Given the description of an element on the screen output the (x, y) to click on. 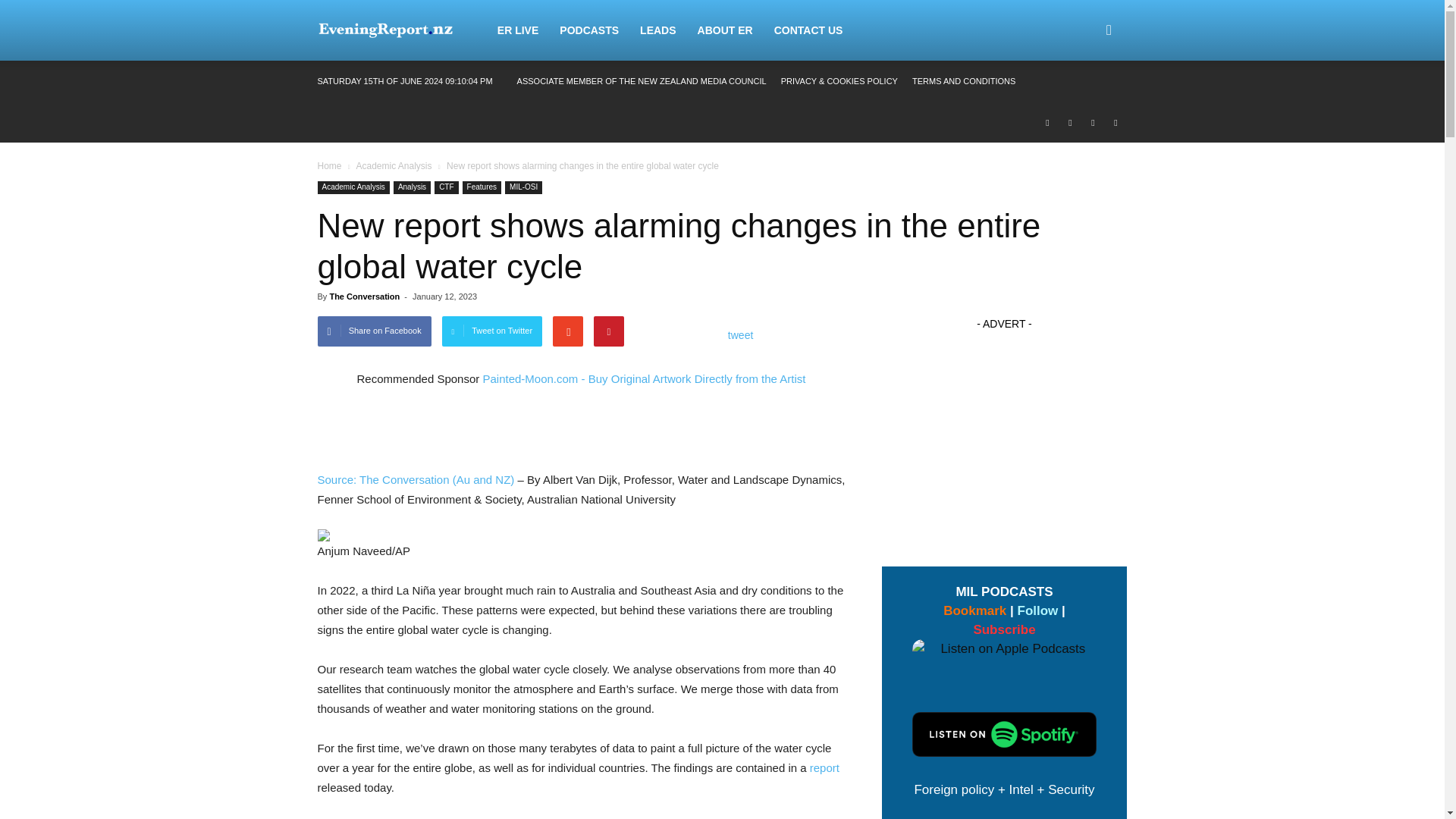
CTF (445, 187)
Facebook (1046, 122)
The Conversation (363, 296)
Academic Analysis (352, 187)
Features (481, 187)
Independent Interactive Analysis and Debate (385, 29)
CONTACT US (807, 30)
TERMS AND CONDITIONS (963, 80)
Twitter (1092, 122)
Share on Facebook (373, 331)
Academic Analysis (392, 165)
report (824, 767)
LEADS (656, 30)
Home (328, 165)
